Given the description of an element on the screen output the (x, y) to click on. 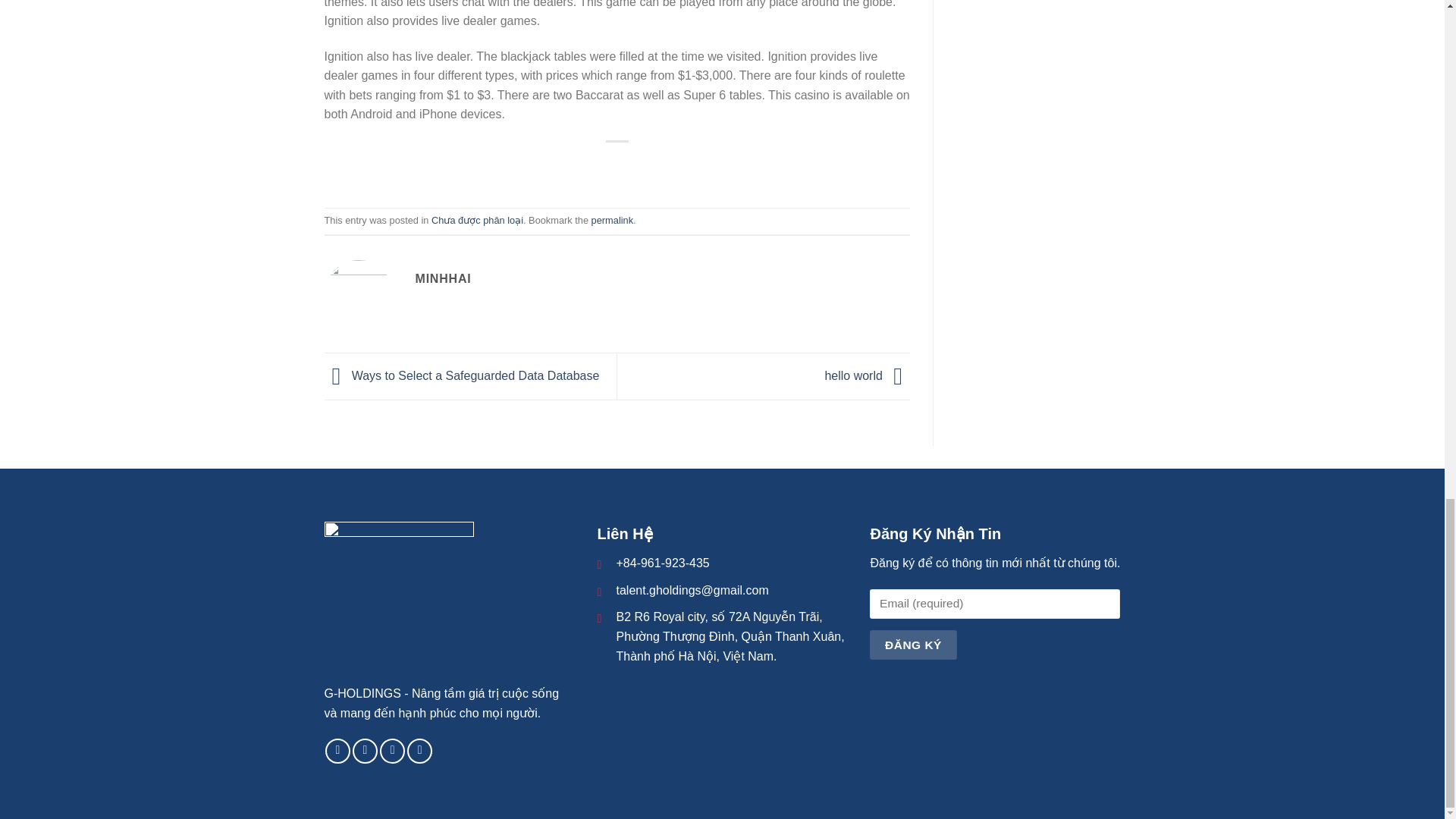
Permalink to Ignition Casino Review (612, 220)
Ways to Select a Safeguarded Data Database (461, 375)
hello world (867, 375)
permalink (612, 220)
